Given the description of an element on the screen output the (x, y) to click on. 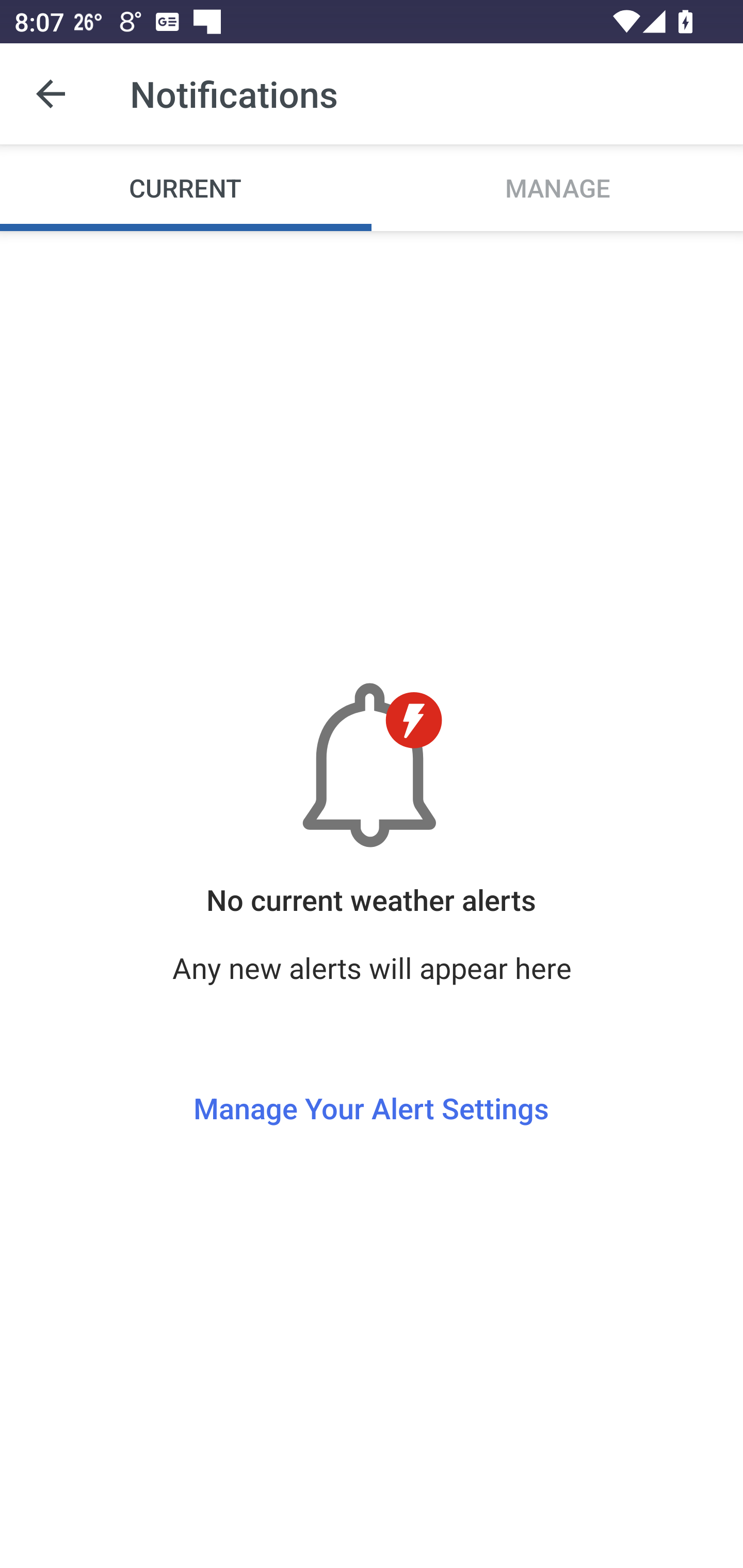
Navigate up (50, 93)
Manage Tab MANAGE (557, 187)
Manage Your Alert Settings (371, 1071)
